Given the description of an element on the screen output the (x, y) to click on. 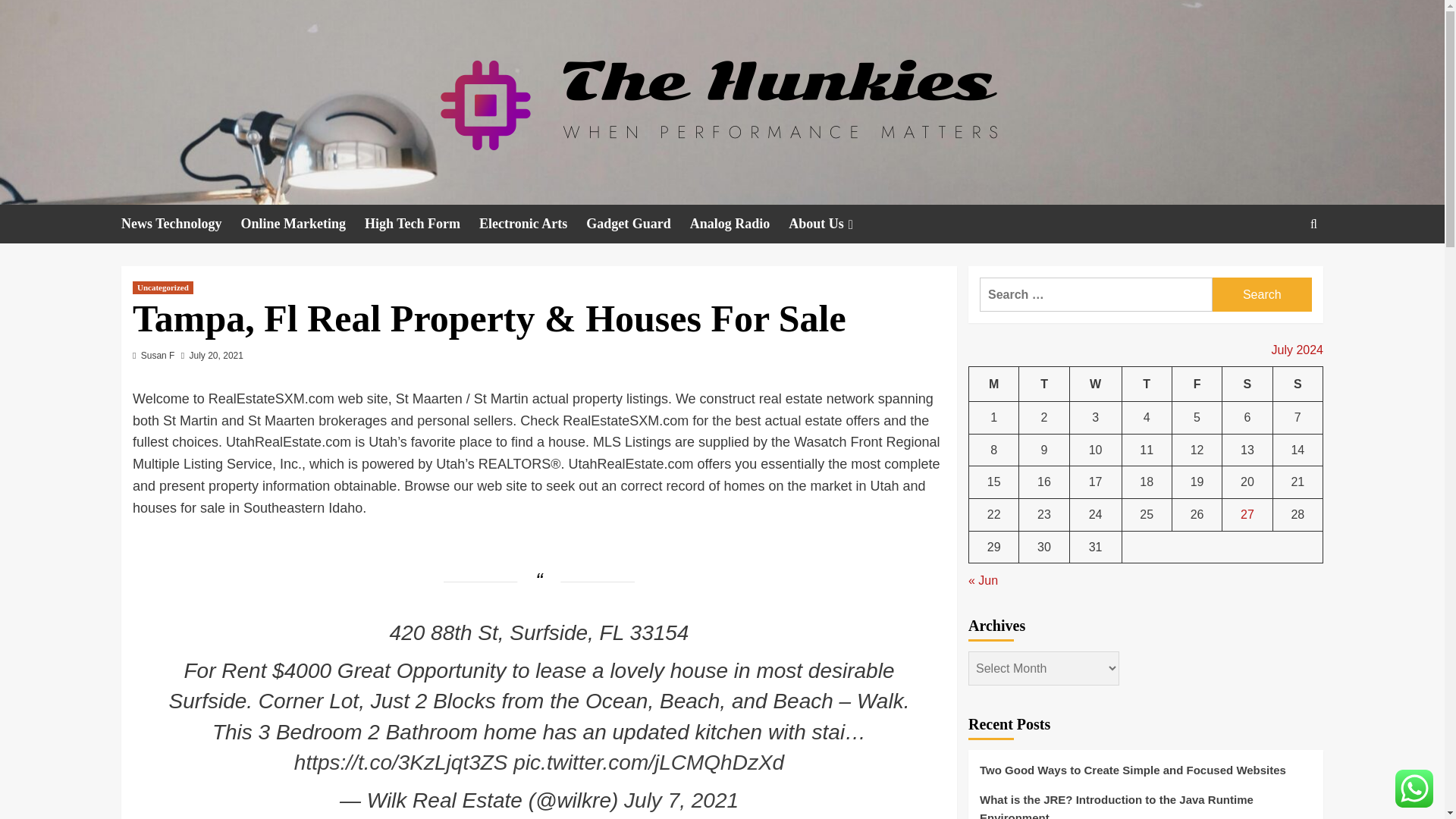
News Technology (180, 223)
Uncategorized (162, 287)
Search (1278, 270)
Saturday (1247, 384)
Thursday (1146, 384)
Wednesday (1094, 384)
Online Marketing (303, 223)
Friday (1196, 384)
Susan F (157, 355)
July 20, 2021 (216, 355)
Electronic Arts (532, 223)
Monday (994, 384)
Gadget Guard (638, 223)
Search (1261, 294)
Search (1261, 294)
